Given the description of an element on the screen output the (x, y) to click on. 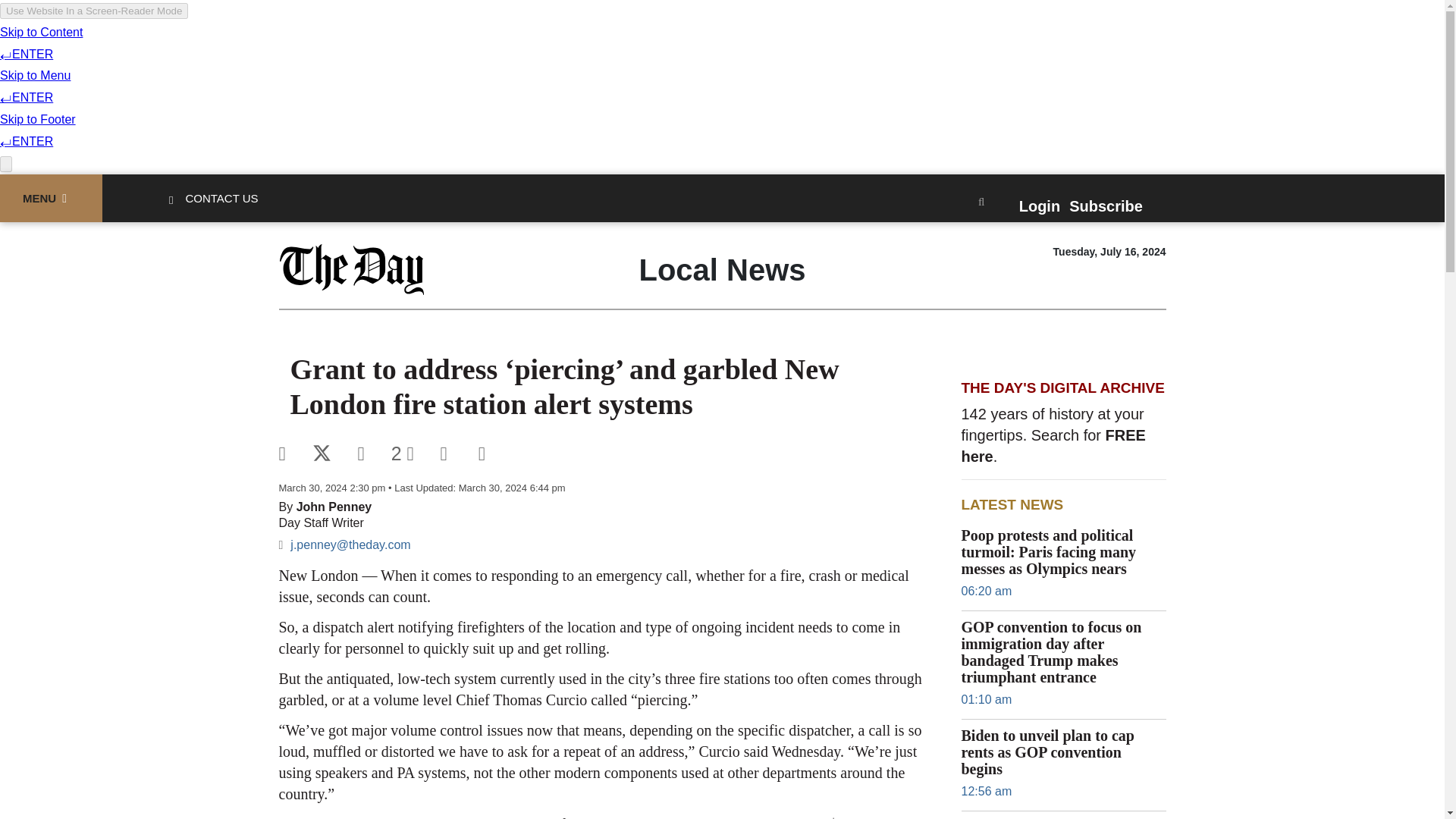
Contact Us (221, 198)
Share via Email (374, 453)
